Given the description of an element on the screen output the (x, y) to click on. 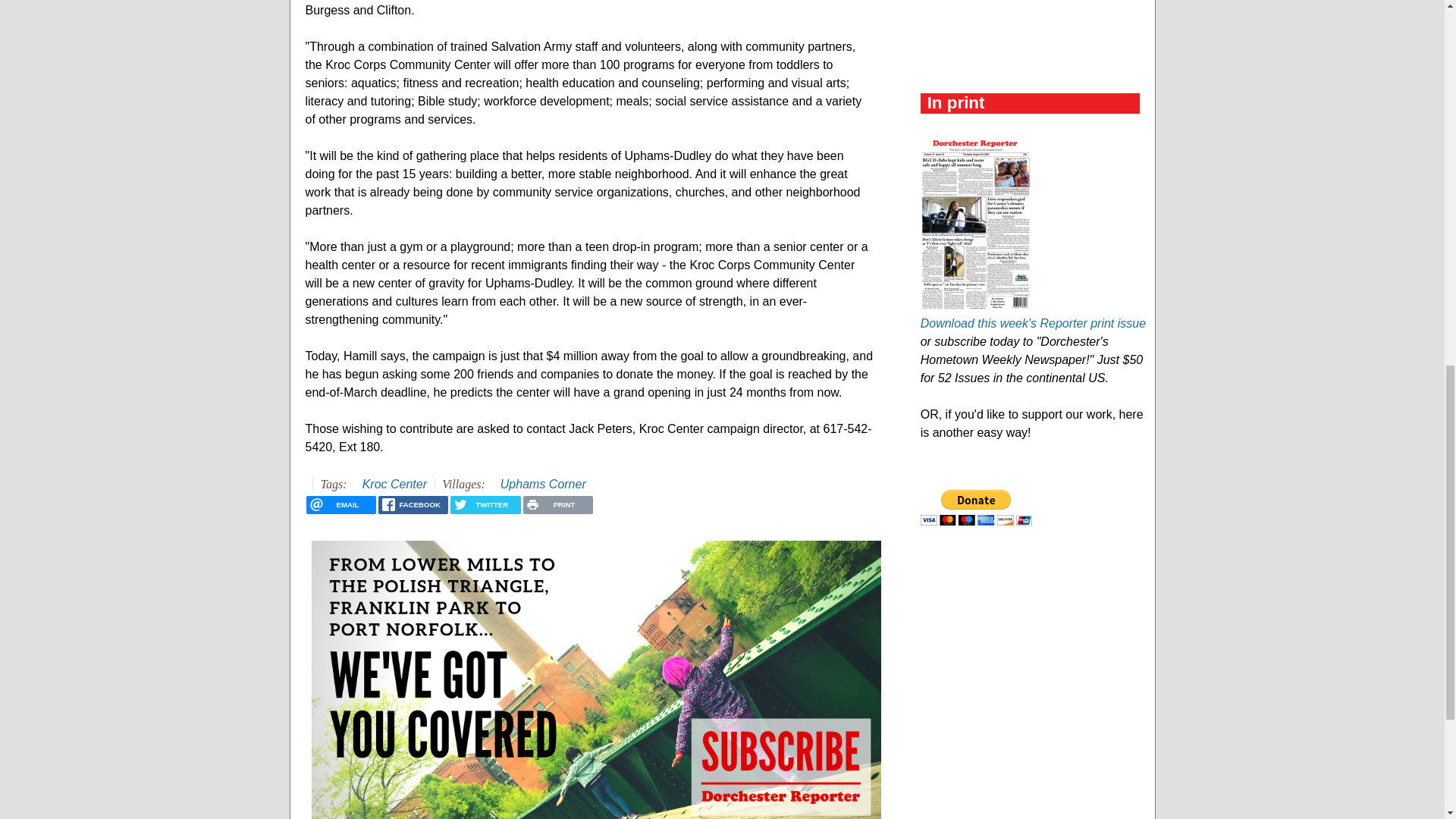
TWITTER (484, 505)
Download this week's Reporter print issue (1032, 323)
PRINT (557, 505)
Kroc Center (394, 483)
Uphams Corner (543, 483)
EMAIL (340, 505)
PayPal - The safer, easier way to pay online! (976, 507)
FACEBOOK (413, 505)
